Given the description of an element on the screen output the (x, y) to click on. 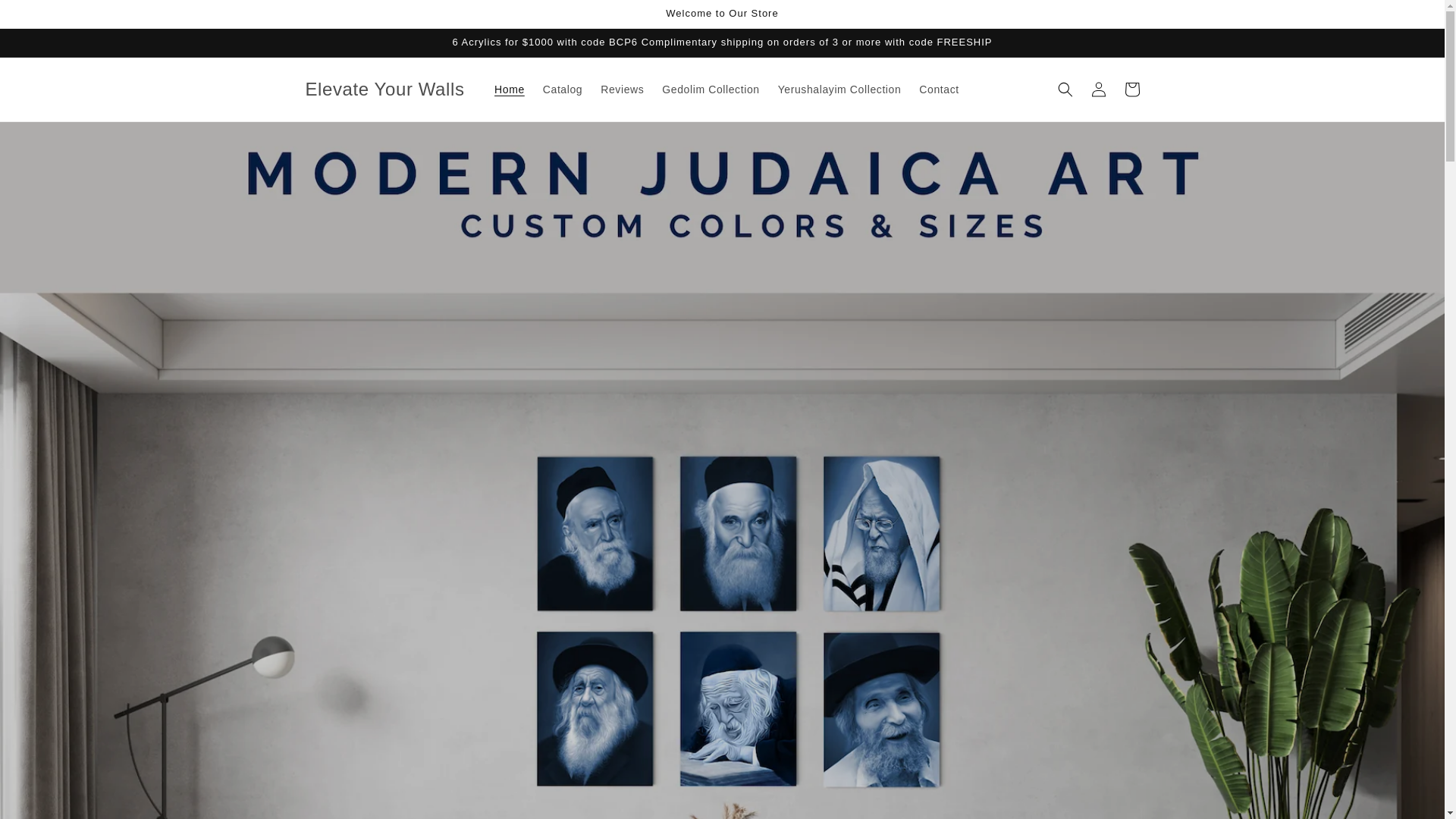
Log in (1098, 89)
Skip to content (45, 17)
Gedolim Collection (710, 89)
Elevate Your Walls (384, 89)
Home (509, 89)
Catalog (562, 89)
Reviews (621, 89)
Yerushalayim Collection (839, 89)
Contact (939, 89)
Cart (1131, 89)
